Given the description of an element on the screen output the (x, y) to click on. 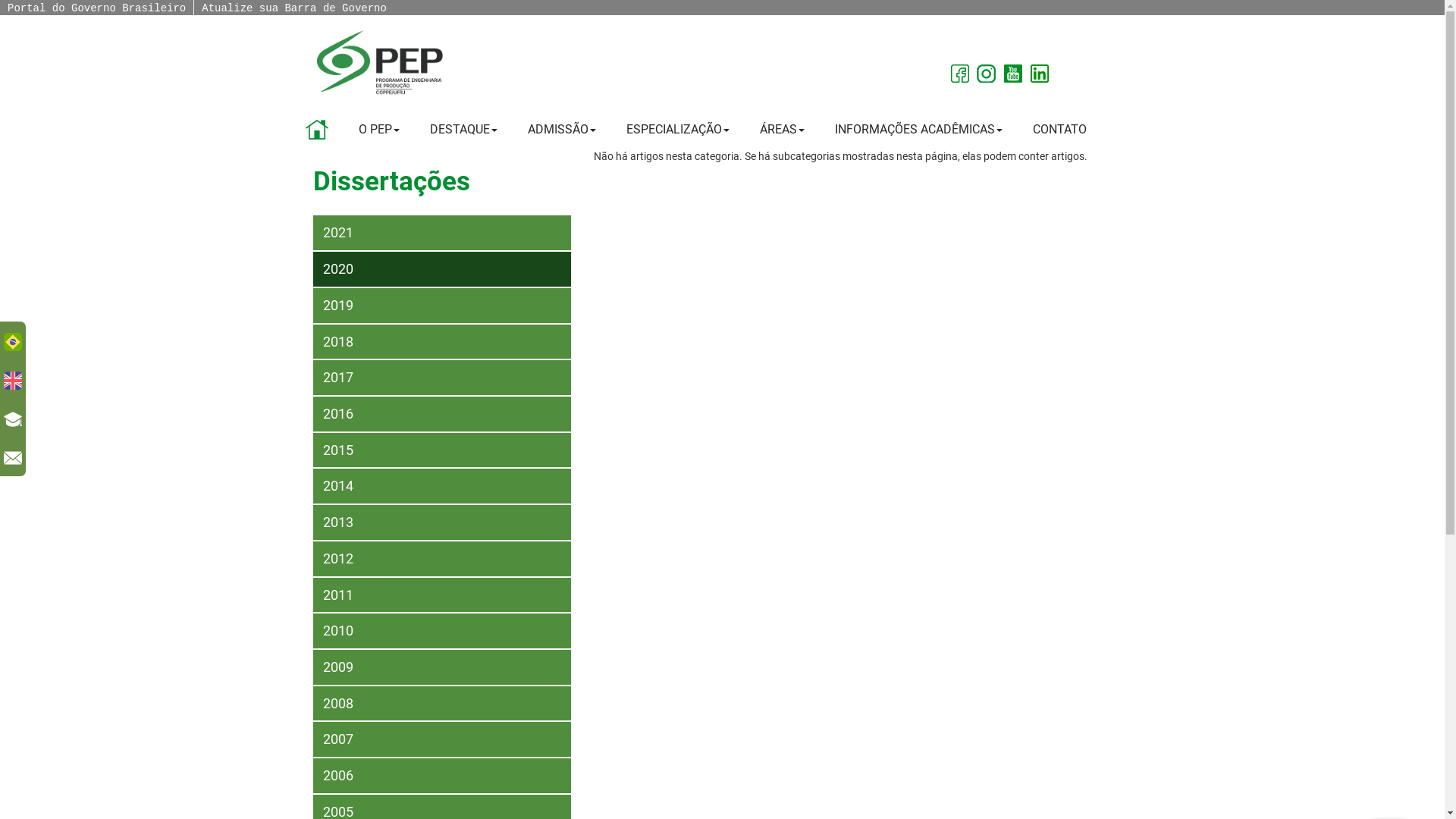
2009 Element type: text (441, 667)
Atualize sua Barra de Governo Element type: text (293, 8)
CONTATO Element type: text (1059, 129)
2020 Element type: text (441, 269)
2016 Element type: text (441, 414)
2011 Element type: text (441, 595)
Portal do Governo Brasileiro Element type: text (96, 8)
2012 Element type: text (441, 559)
2007 Element type: text (441, 739)
2021 Element type: text (441, 233)
2018 Element type: text (441, 342)
2015 Element type: text (441, 451)
2019 Element type: text (441, 306)
HOME Element type: text (316, 129)
2006 Element type: text (441, 776)
2008 Element type: text (441, 704)
2013 Element type: text (441, 523)
2017 Element type: text (441, 378)
2010 Element type: text (441, 631)
2014 Element type: text (441, 486)
